Given the description of an element on the screen output the (x, y) to click on. 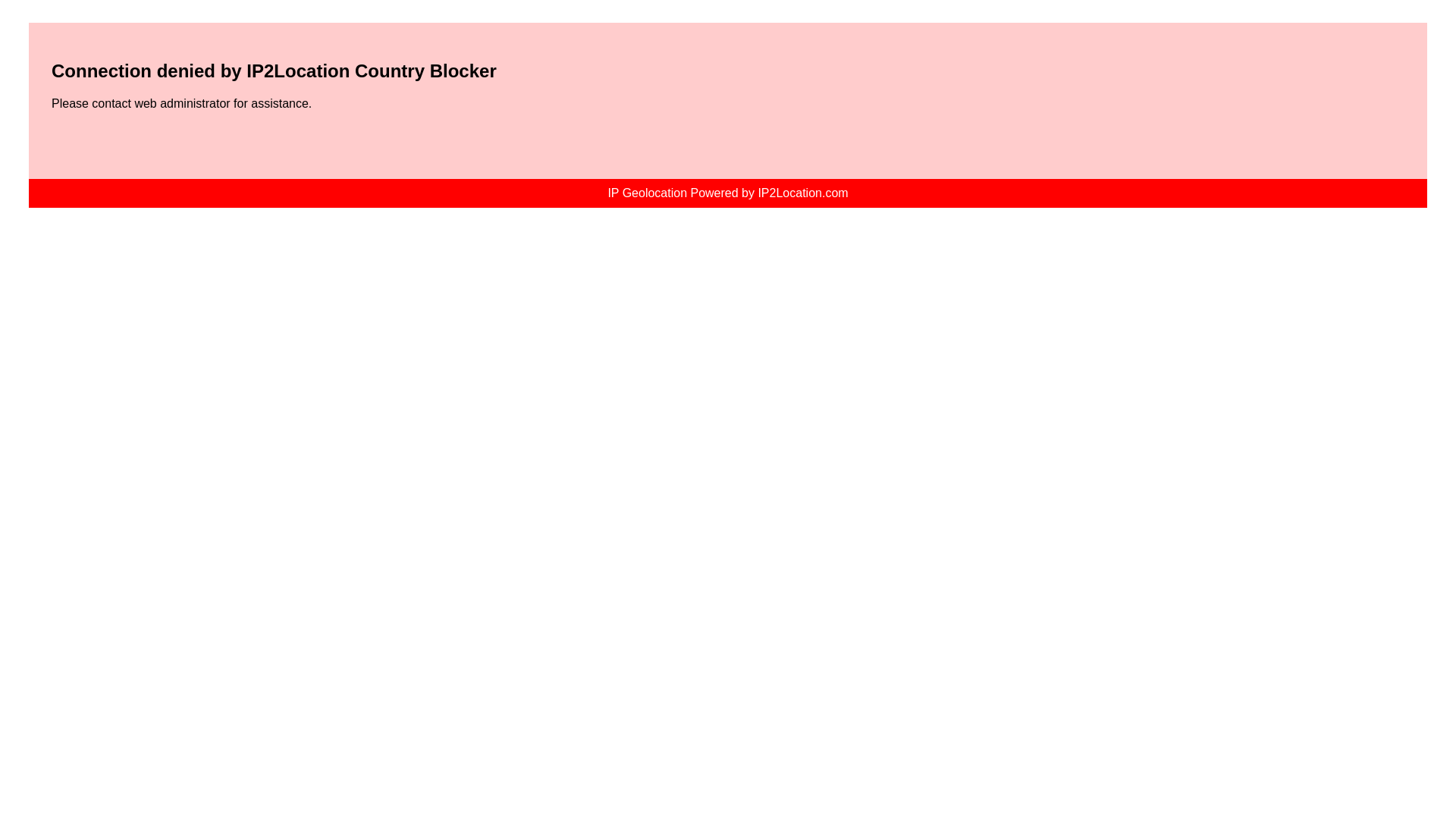
IP Geolocation Powered by IP2Location.com (727, 192)
